Given the description of an element on the screen output the (x, y) to click on. 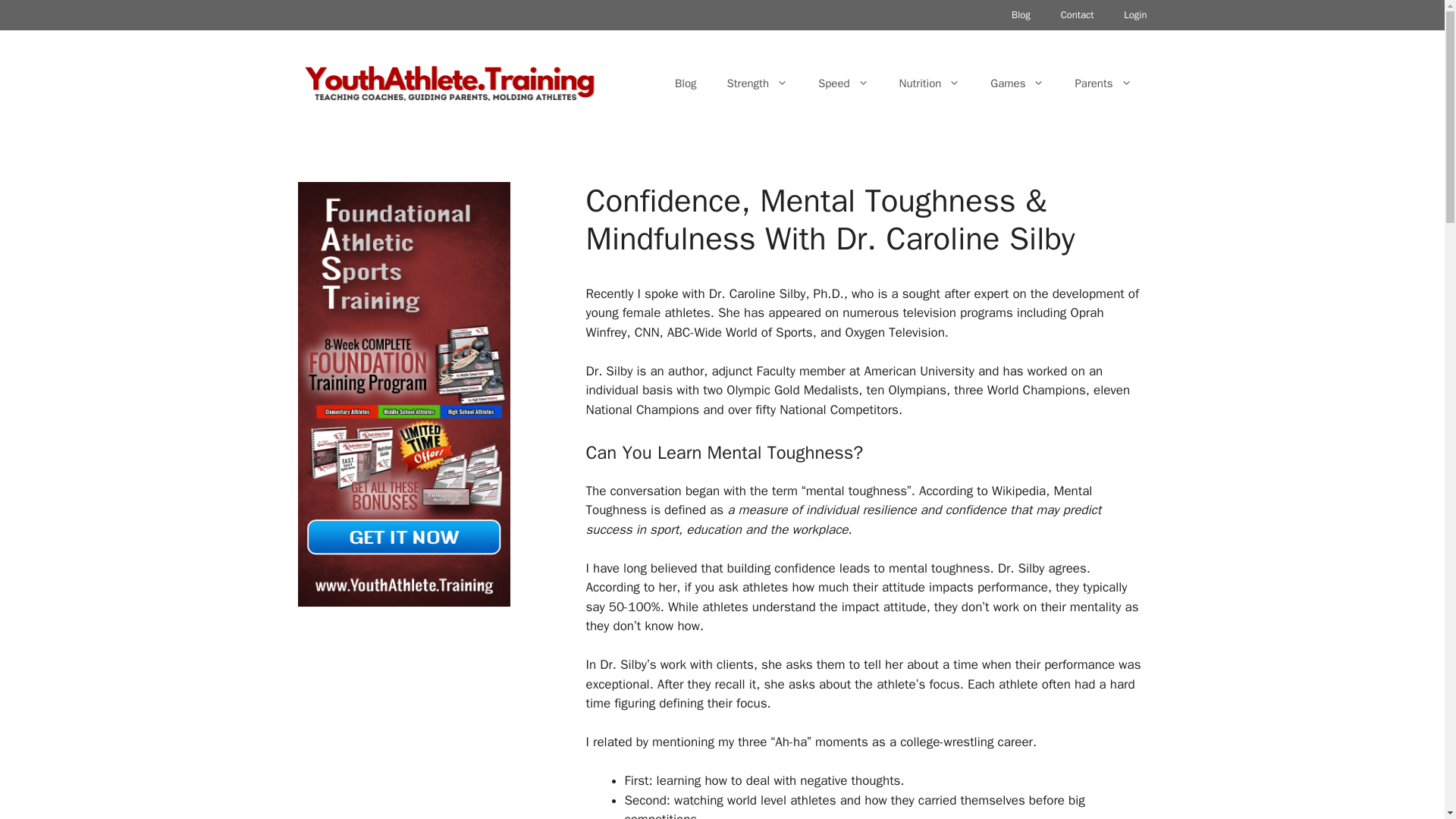
Blog (685, 83)
Blog (1020, 15)
Games (1017, 83)
Speed (843, 83)
Contact (1077, 15)
Nutrition (929, 83)
Youth Athlete Training (448, 83)
Youth Athlete Training (448, 82)
Strength (757, 83)
Parents (1103, 83)
